Given the description of an element on the screen output the (x, y) to click on. 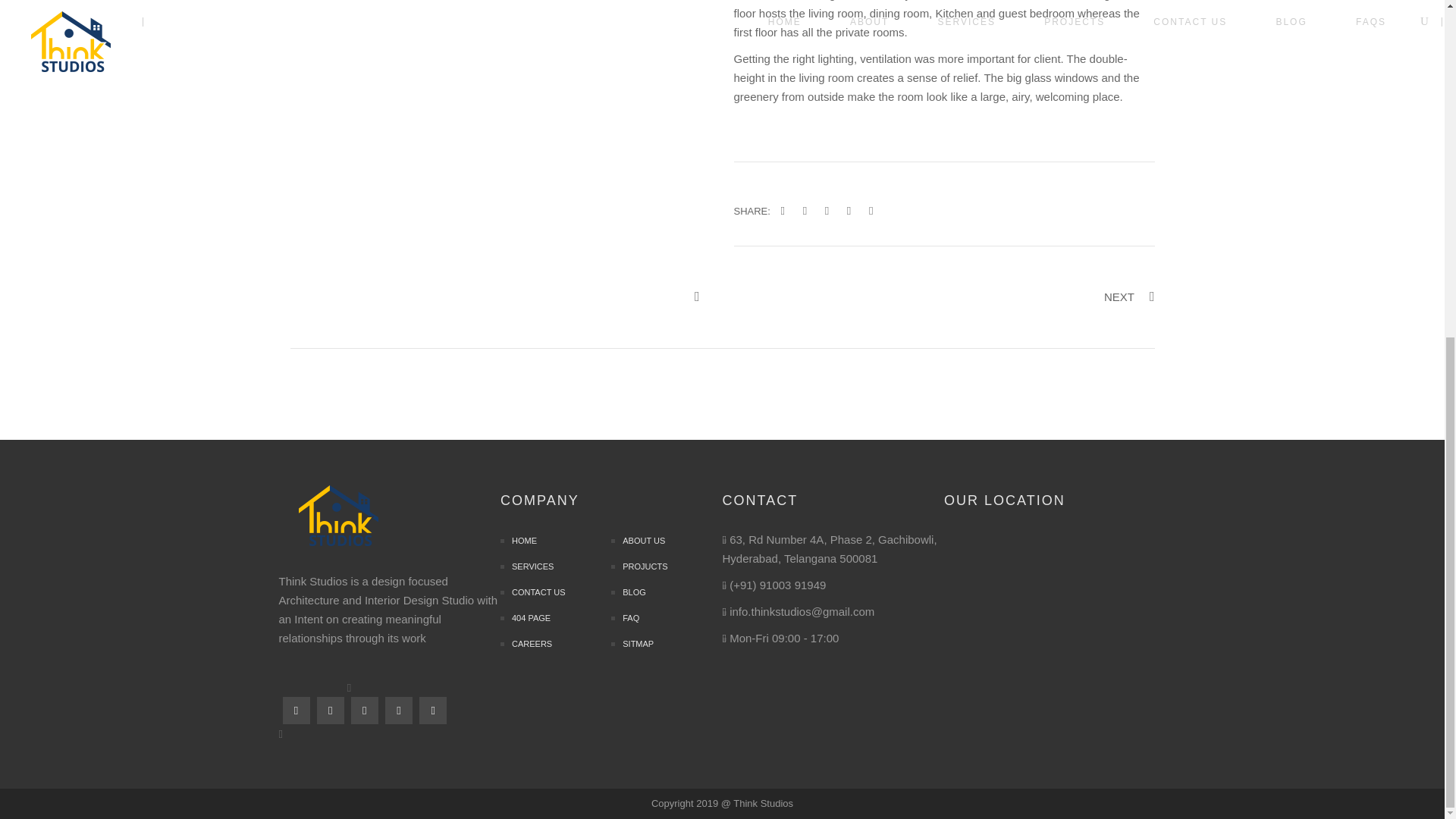
HOME (518, 540)
ABOUT US (638, 540)
NEXT (1128, 296)
